Given the description of an element on the screen output the (x, y) to click on. 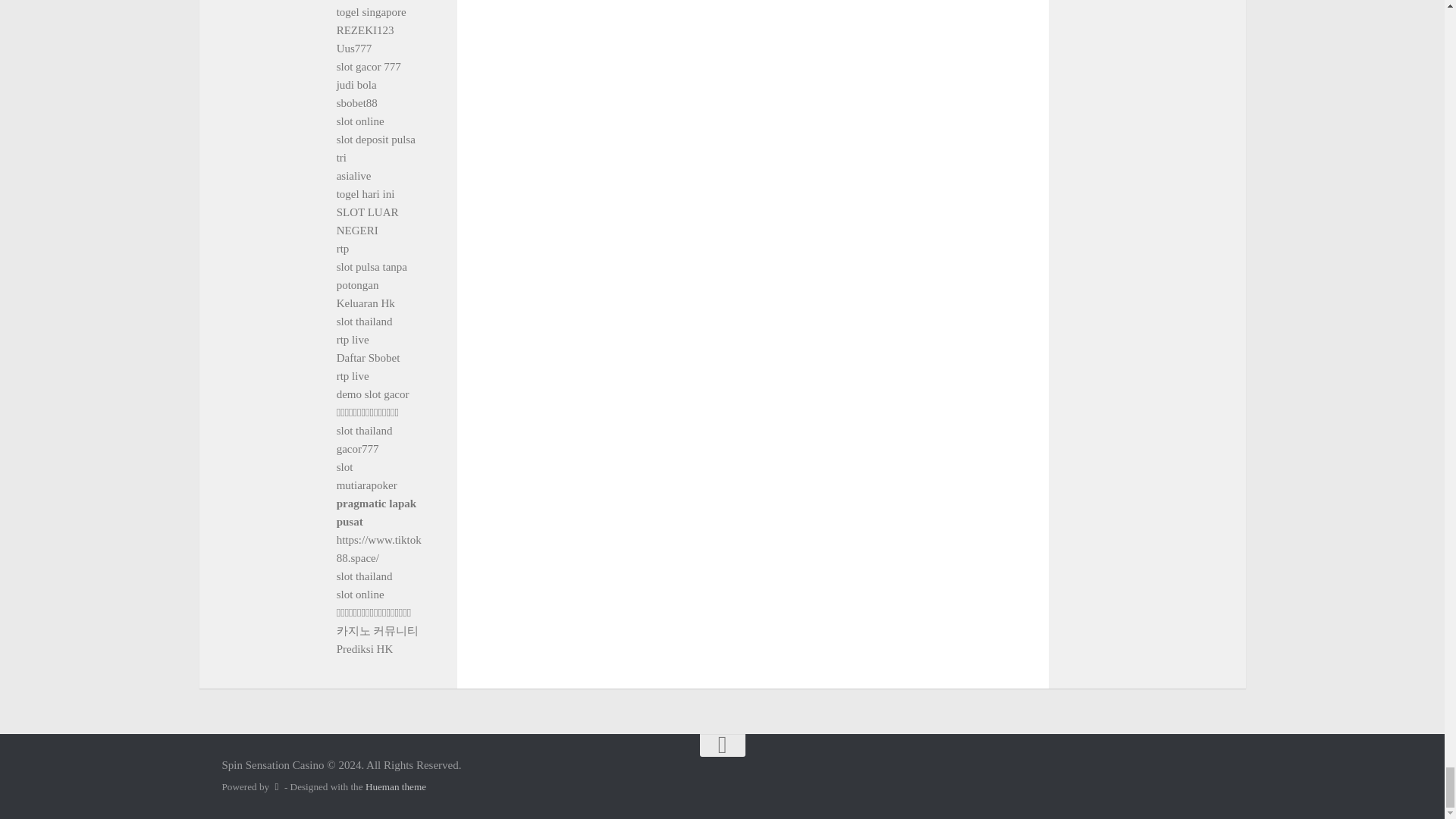
Powered by WordPress (275, 786)
Hueman theme (395, 786)
